Given the description of an element on the screen output the (x, y) to click on. 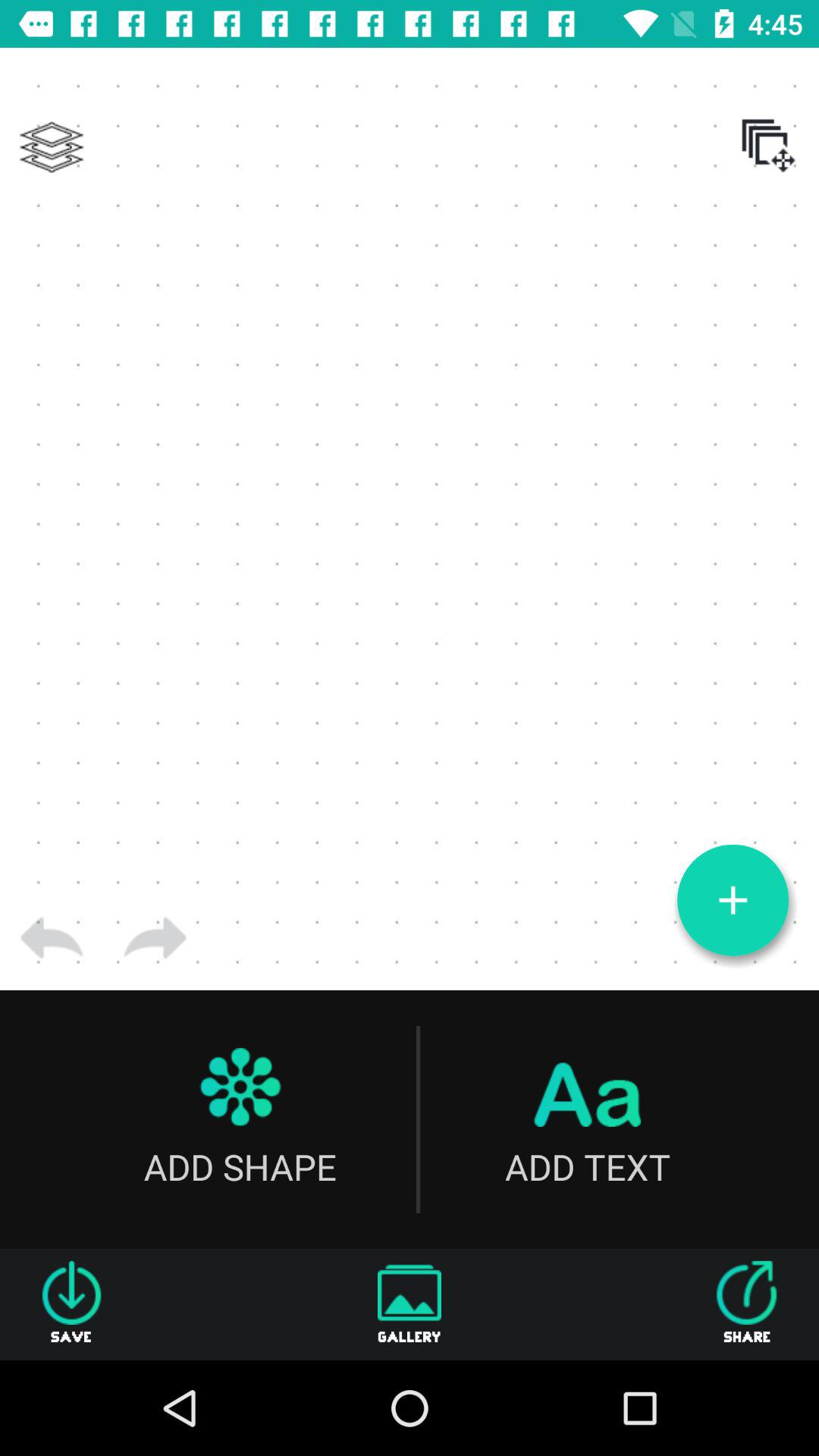
swipe until save icon (71, 1304)
